Given the description of an element on the screen output the (x, y) to click on. 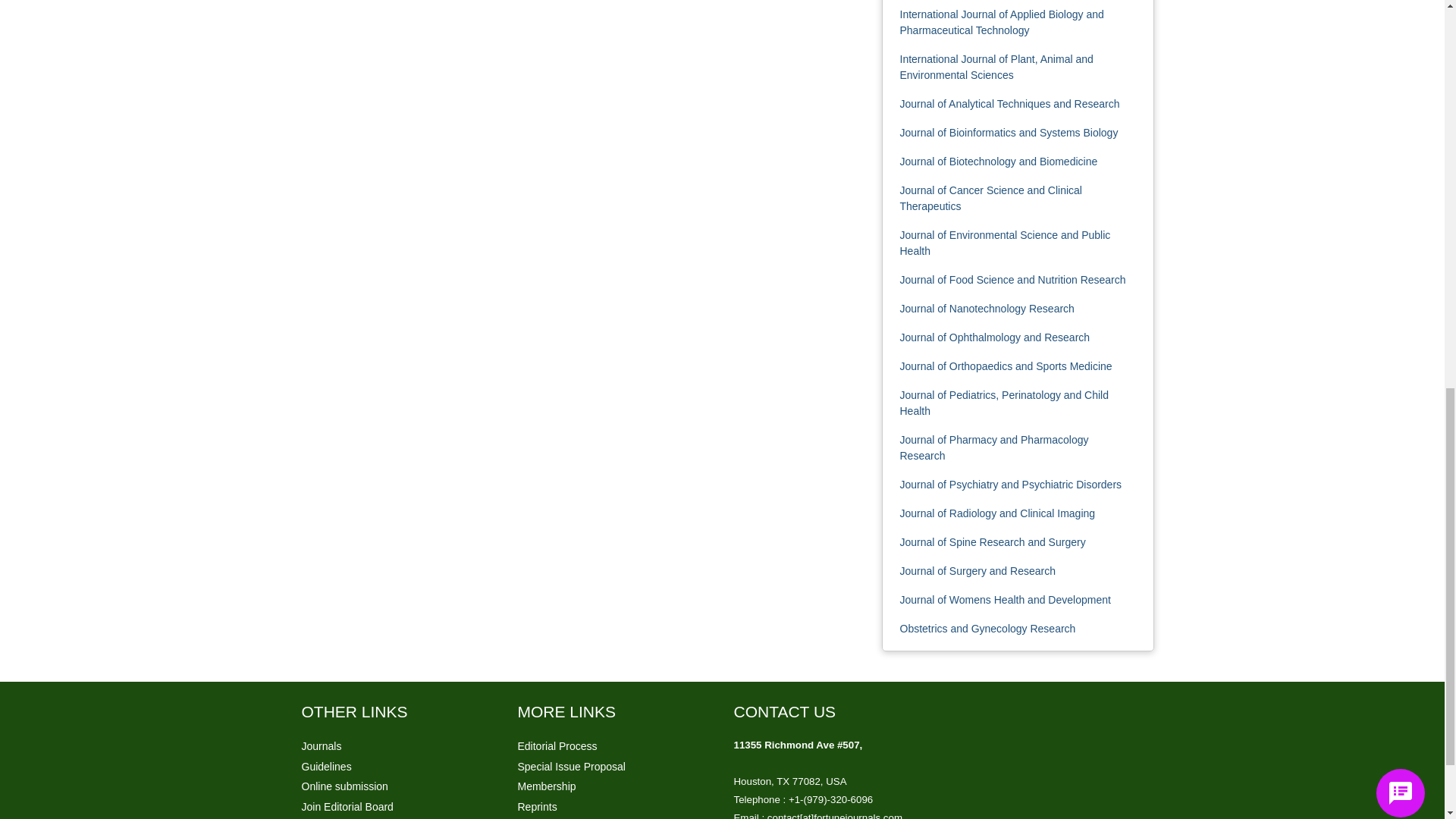
Journal of Biotechnology and Biomedicine (998, 161)
Journal of Analytical Techniques and Research (1009, 103)
Journal of Cancer Science and Clinical Therapeutics (990, 198)
Journal of Bioinformatics and Systems Biology (1008, 132)
Journal of Environmental Science and Public Health (1004, 243)
Journal of Nanotechnology Research (986, 308)
Journal of Food Science and Nutrition Research (1012, 279)
Journal of Orthopaedics and Sports Medicine (1005, 366)
